Given the description of an element on the screen output the (x, y) to click on. 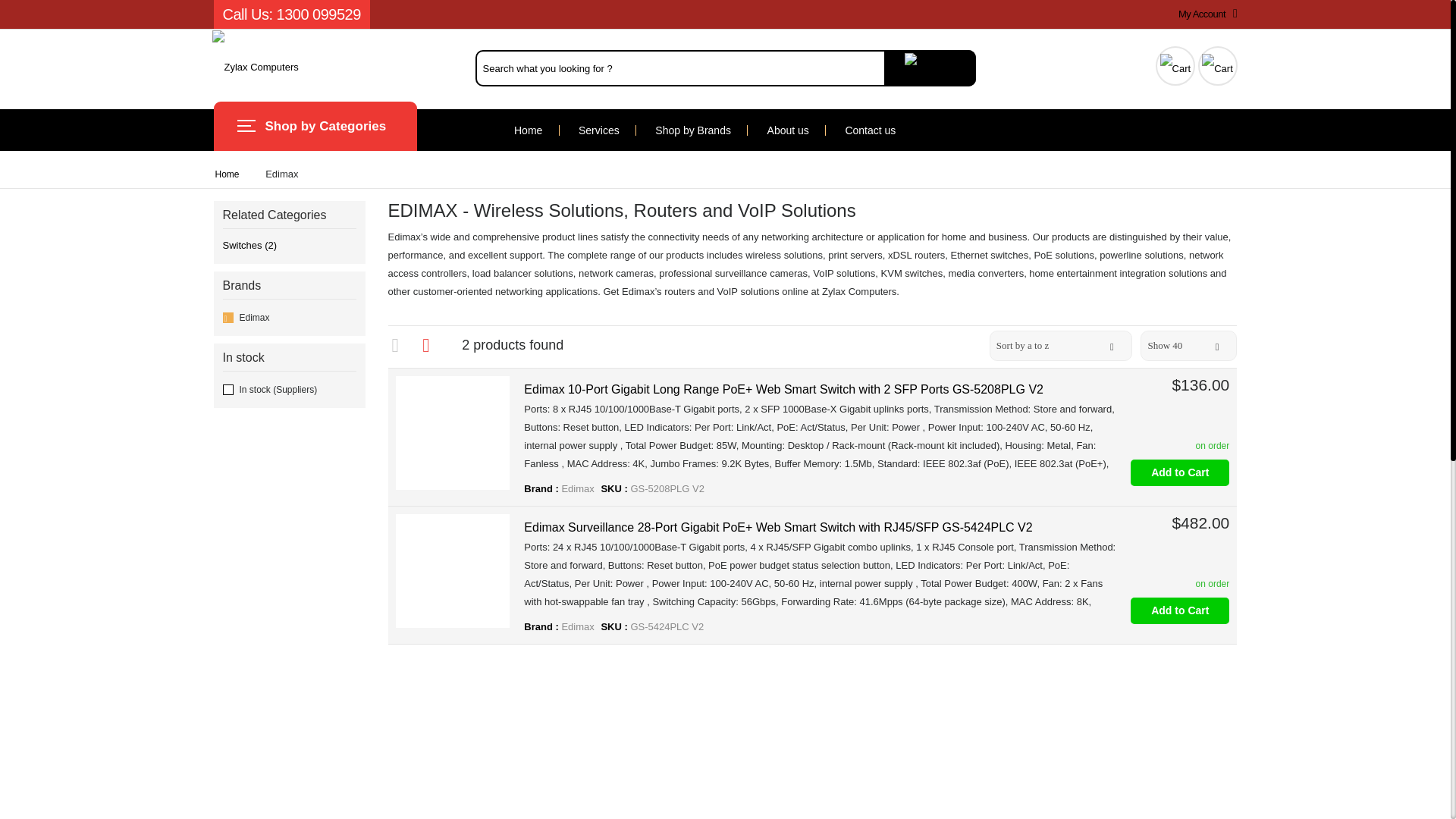
Edimax (289, 317)
Tracking page (1175, 64)
. (929, 67)
Zylax Computers (255, 66)
Cart page (1217, 64)
My Account (1204, 13)
Call Us: 1300 099529 (291, 13)
